Given the description of an element on the screen output the (x, y) to click on. 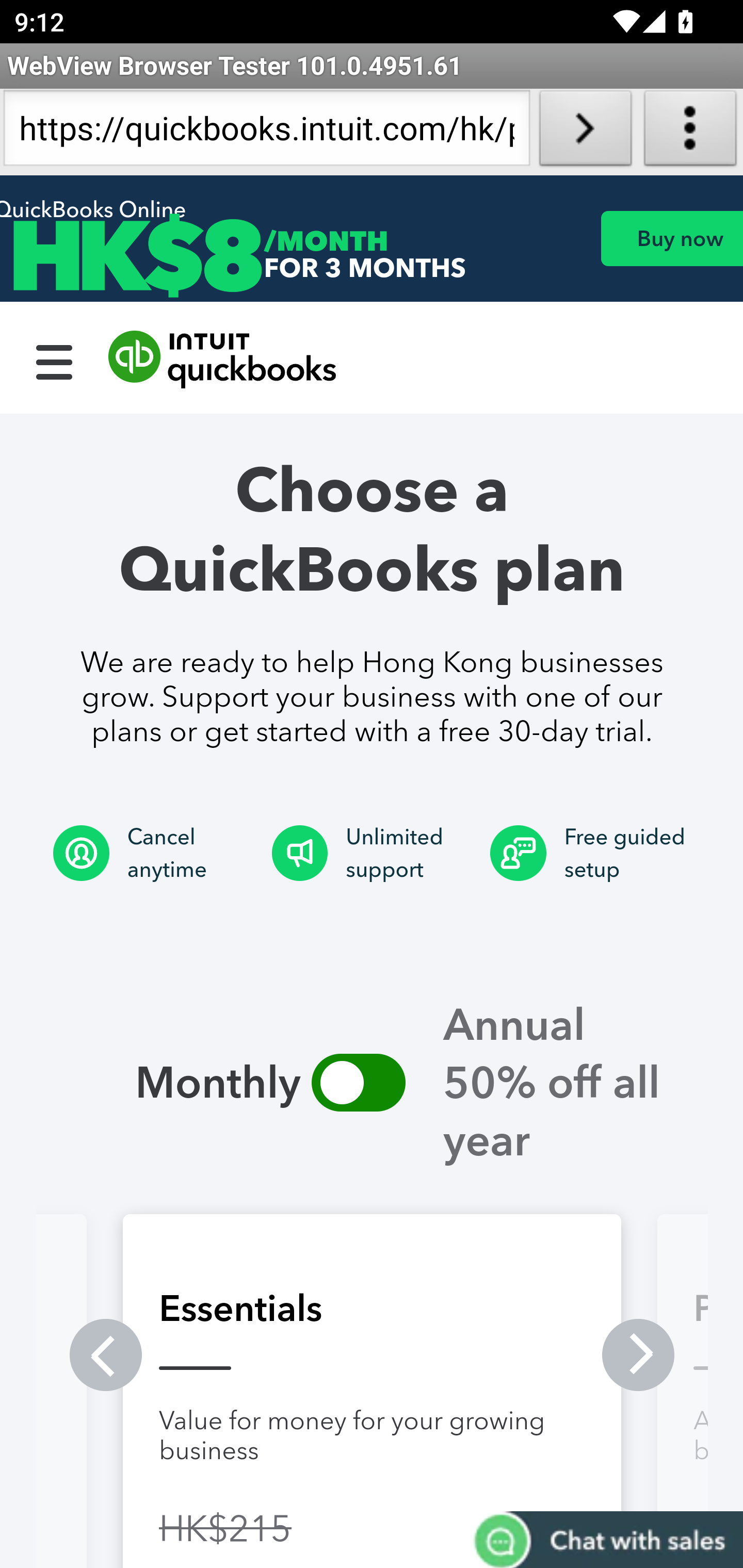
https://quickbooks.intuit.com/hk/pricing/ (266, 132)
Load URL (585, 132)
About WebView (690, 132)
Buy now (671, 238)
quickbooks-mobile-burger (54, 359)
quickbooks (222, 359)
Annual 50% off all year (570, 1081)
Monthly (174, 1082)
Monthly  (358, 1081)
